Given the description of an element on the screen output the (x, y) to click on. 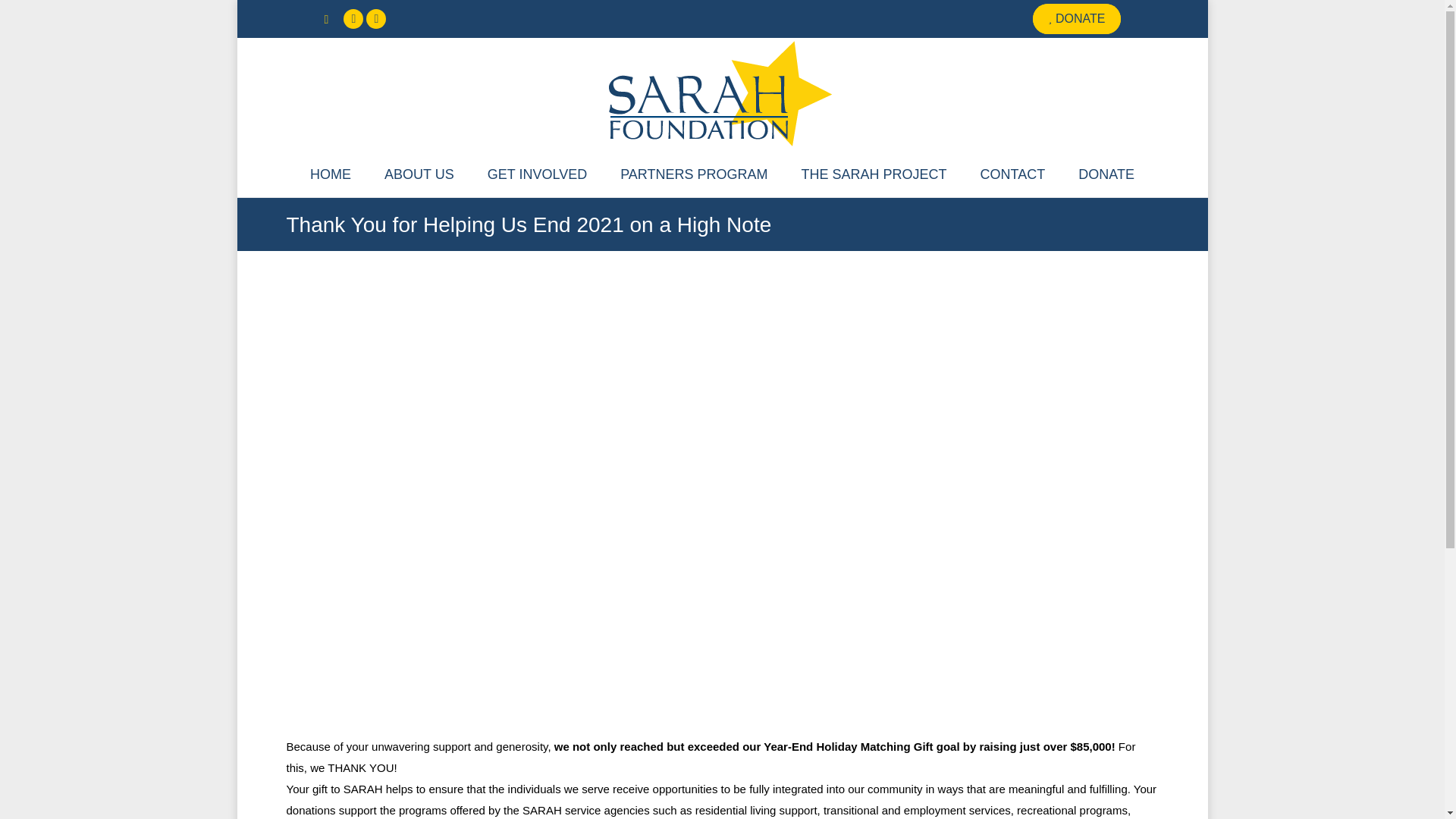
ABOUT US (419, 173)
Instagram page opens in new window (375, 18)
Facebook page opens in new window (352, 18)
HOME (330, 173)
DONATE (1075, 19)
Go! (24, 16)
Instagram page opens in new window (375, 18)
GET INVOLVED (536, 173)
DONATE (1106, 173)
THE SARAH PROJECT (874, 173)
